Given the description of an element on the screen output the (x, y) to click on. 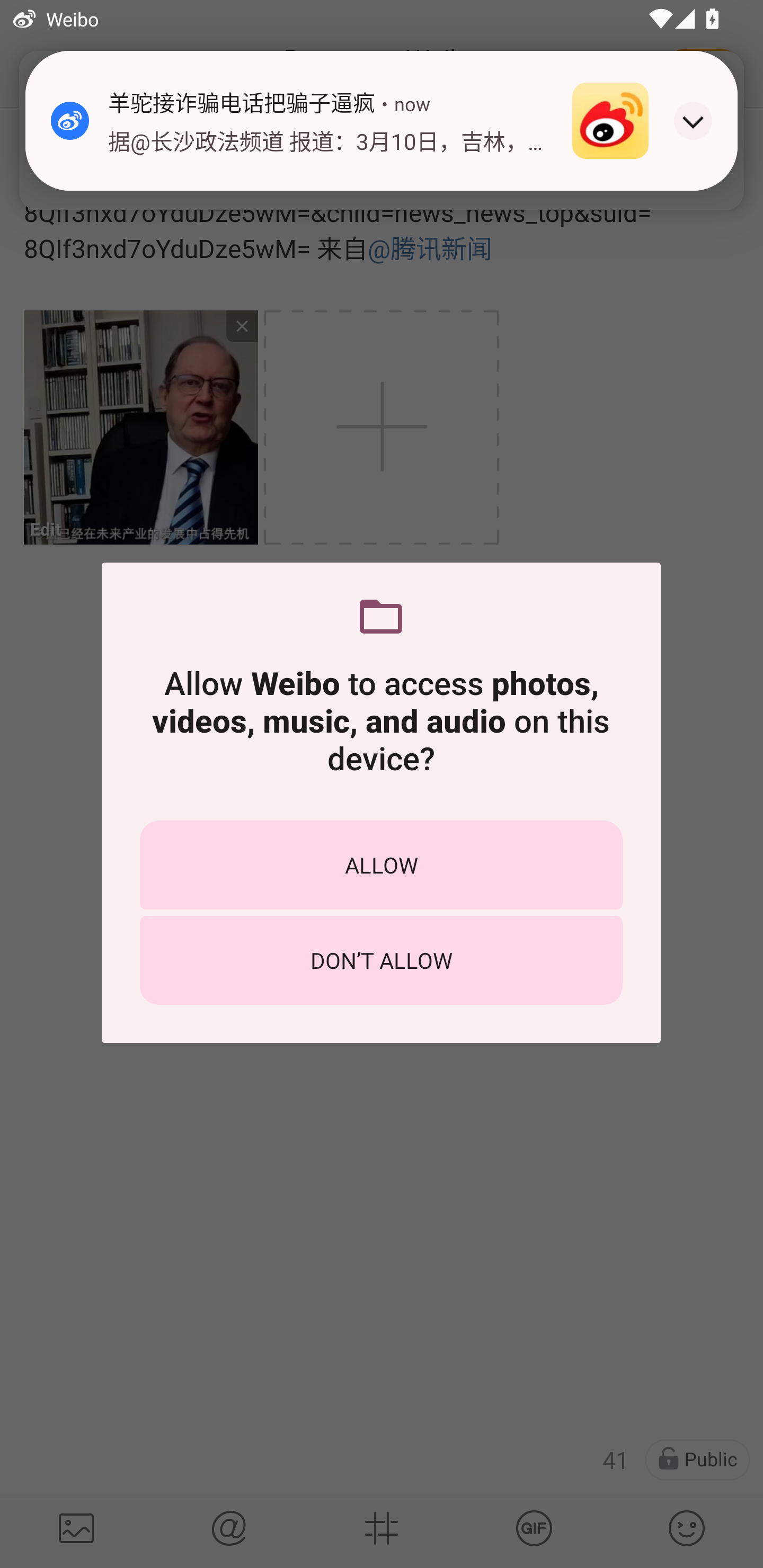
ALLOW (380, 864)
DON’T ALLOW (380, 960)
